Given the description of an element on the screen output the (x, y) to click on. 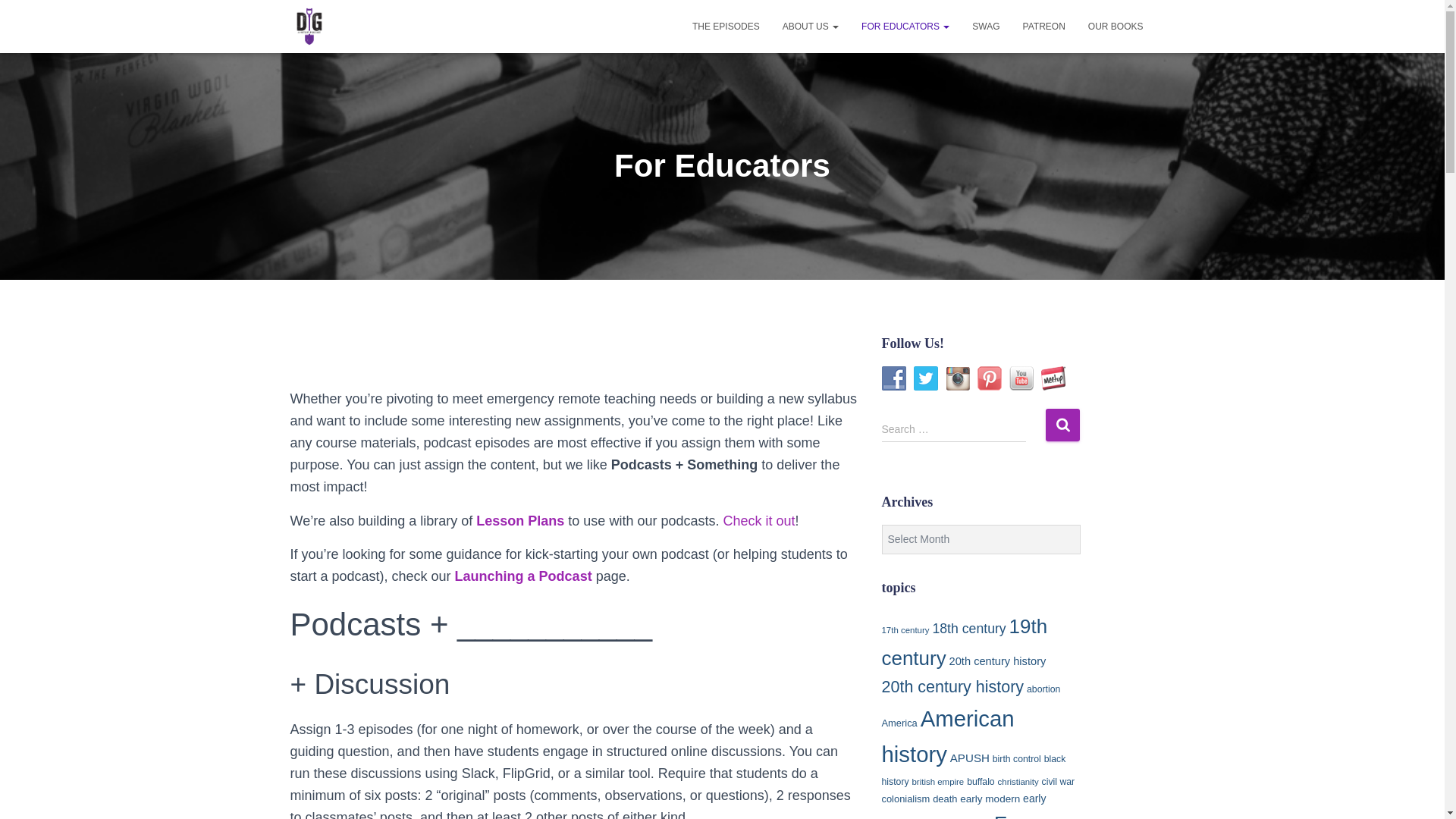
For Educators (905, 26)
Patreon (1044, 26)
About Us (810, 26)
Follow Us on Twitter (924, 378)
Swag (985, 26)
Follow Us on Instagram (956, 378)
Check it out (758, 520)
Search (1062, 424)
Follow Us on Facebook (892, 378)
Follow Us on Pinterest (988, 378)
The Episodes (726, 26)
Search (1062, 424)
FOR EDUCATORS (905, 26)
DIG (309, 26)
Follow Us on YouTube (1020, 378)
